Given the description of an element on the screen output the (x, y) to click on. 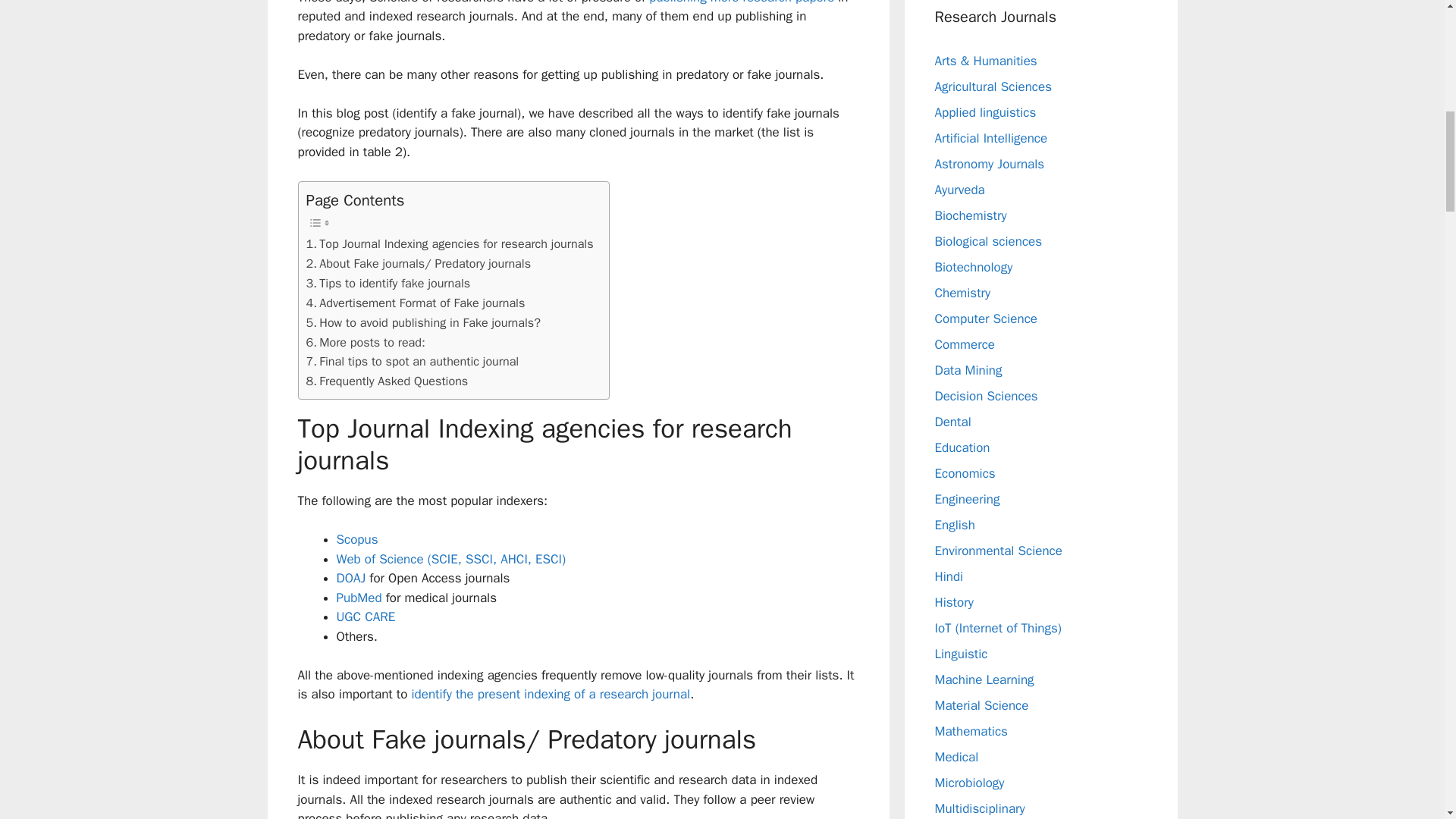
PubMed (360, 597)
Final tips to spot an authentic journal (412, 361)
Final tips to spot an authentic journal (412, 361)
Tips to identify fake journals (387, 283)
How to avoid publishing in Fake journals? (422, 322)
Top Journal Indexing agencies for research journals (449, 243)
Advertisement Format of Fake journals (415, 302)
identify the present indexing of a research journal (551, 693)
UGC CARE (366, 616)
Scopus (357, 539)
